Given the description of an element on the screen output the (x, y) to click on. 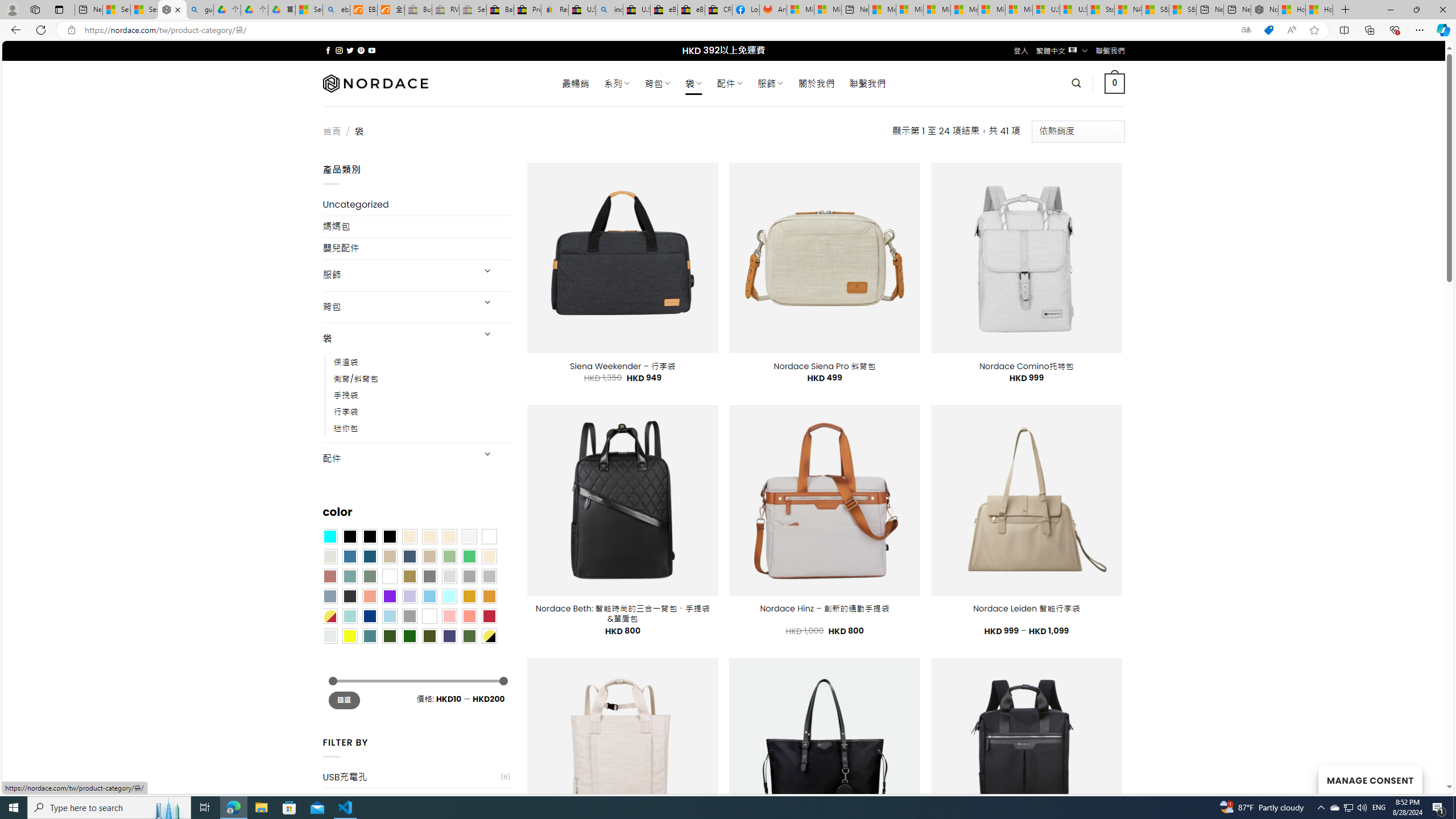
Buy Auto Parts & Accessories | eBay - Sleeping (418, 9)
U.S. State Privacy Disclosures - eBay Inc. (636, 9)
Uncategorized (416, 204)
  0   (1115, 83)
Baby Keepsakes & Announcements for sale | eBay (499, 9)
